Given the description of an element on the screen output the (x, y) to click on. 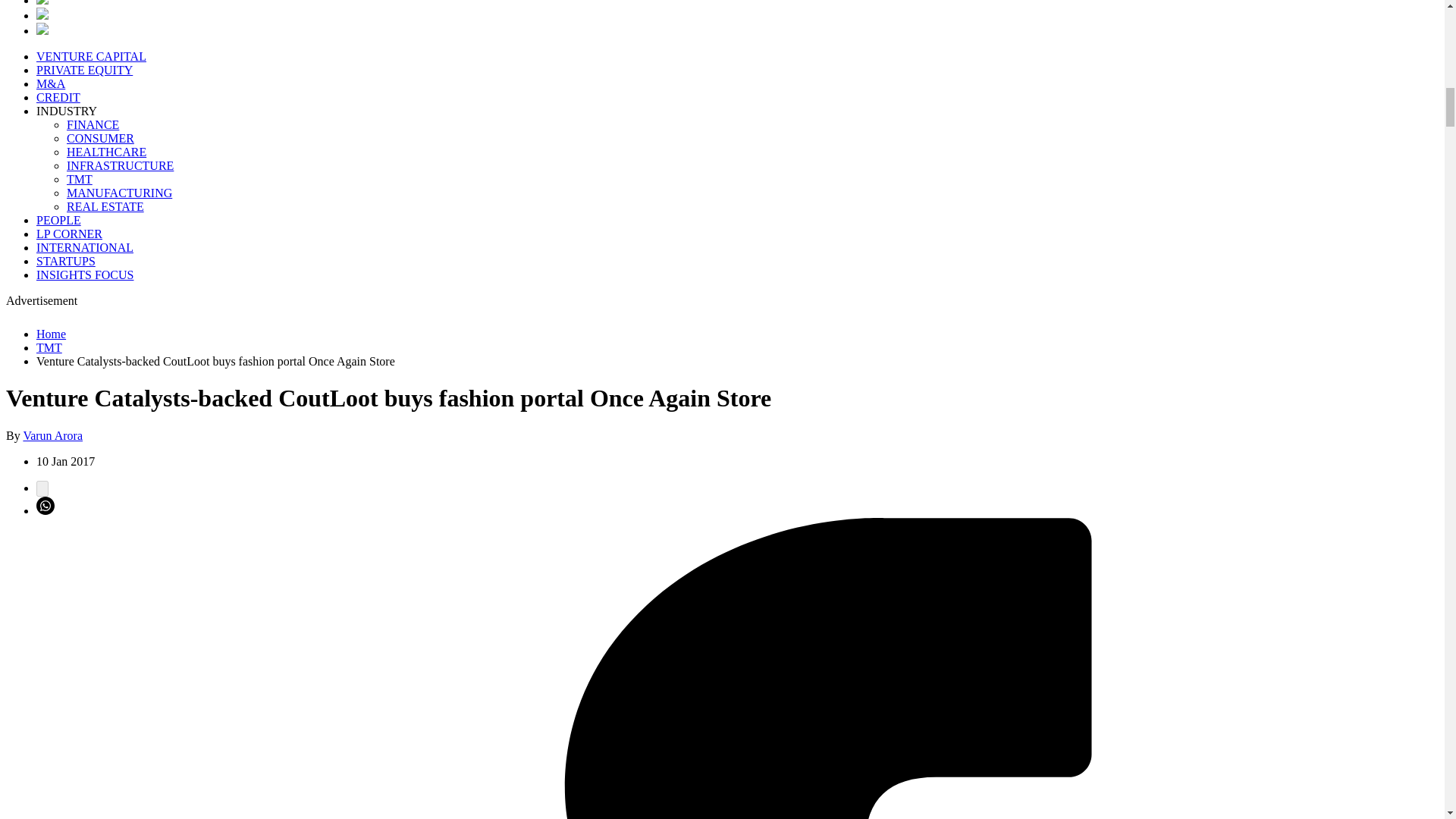
HEALTHCARE (106, 151)
STARTUPS (66, 260)
Varun Arora (52, 435)
MANUFACTURING (118, 192)
TMT (49, 347)
CREDIT (58, 97)
INFRASTRUCTURE (119, 164)
REAL ESTATE (105, 205)
INSIGHTS FOCUS (84, 274)
CONSUMER (99, 137)
